Given the description of an element on the screen output the (x, y) to click on. 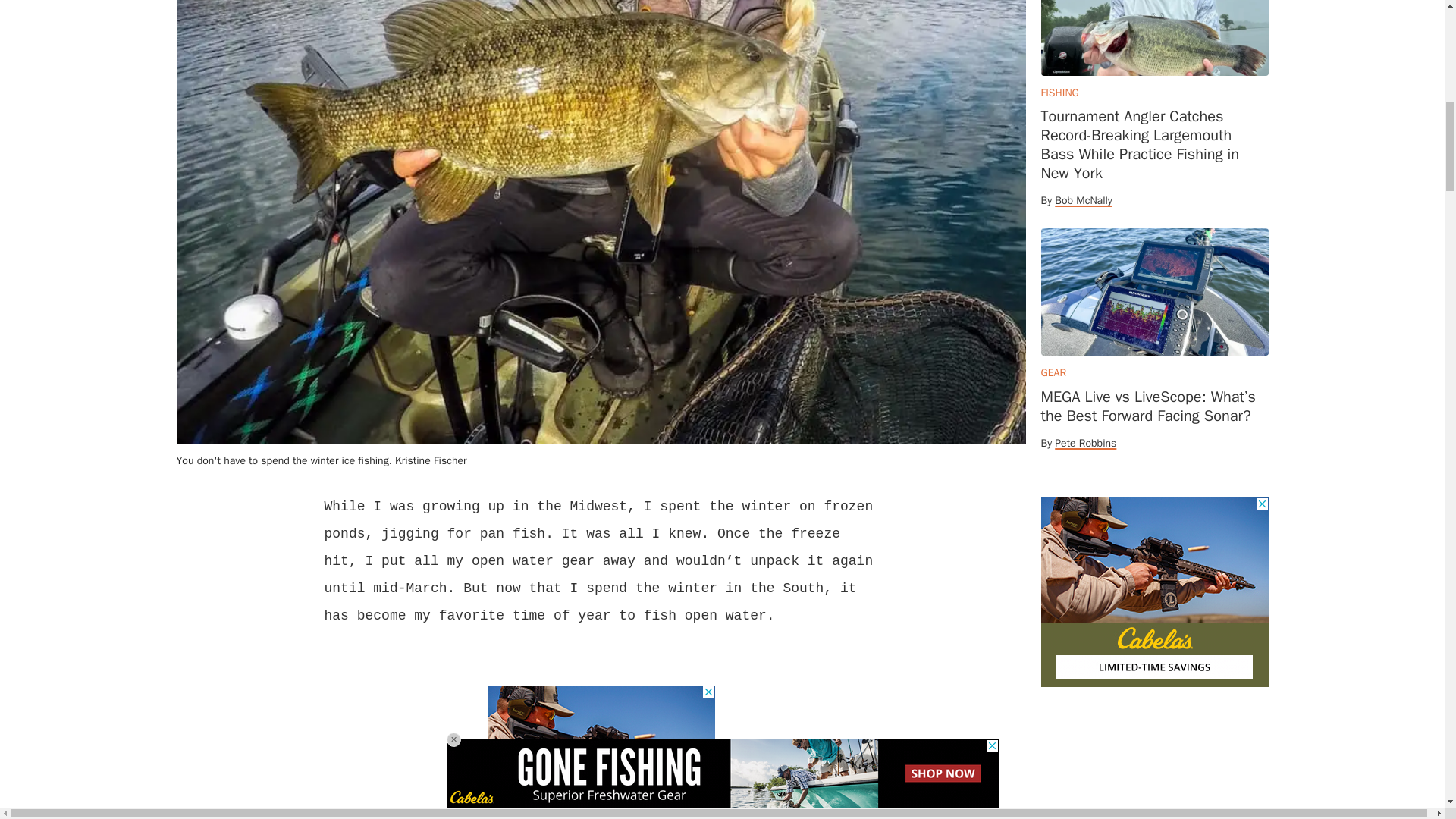
3rd party ad content (600, 752)
3rd party ad content (1154, 592)
